Given the description of an element on the screen output the (x, y) to click on. 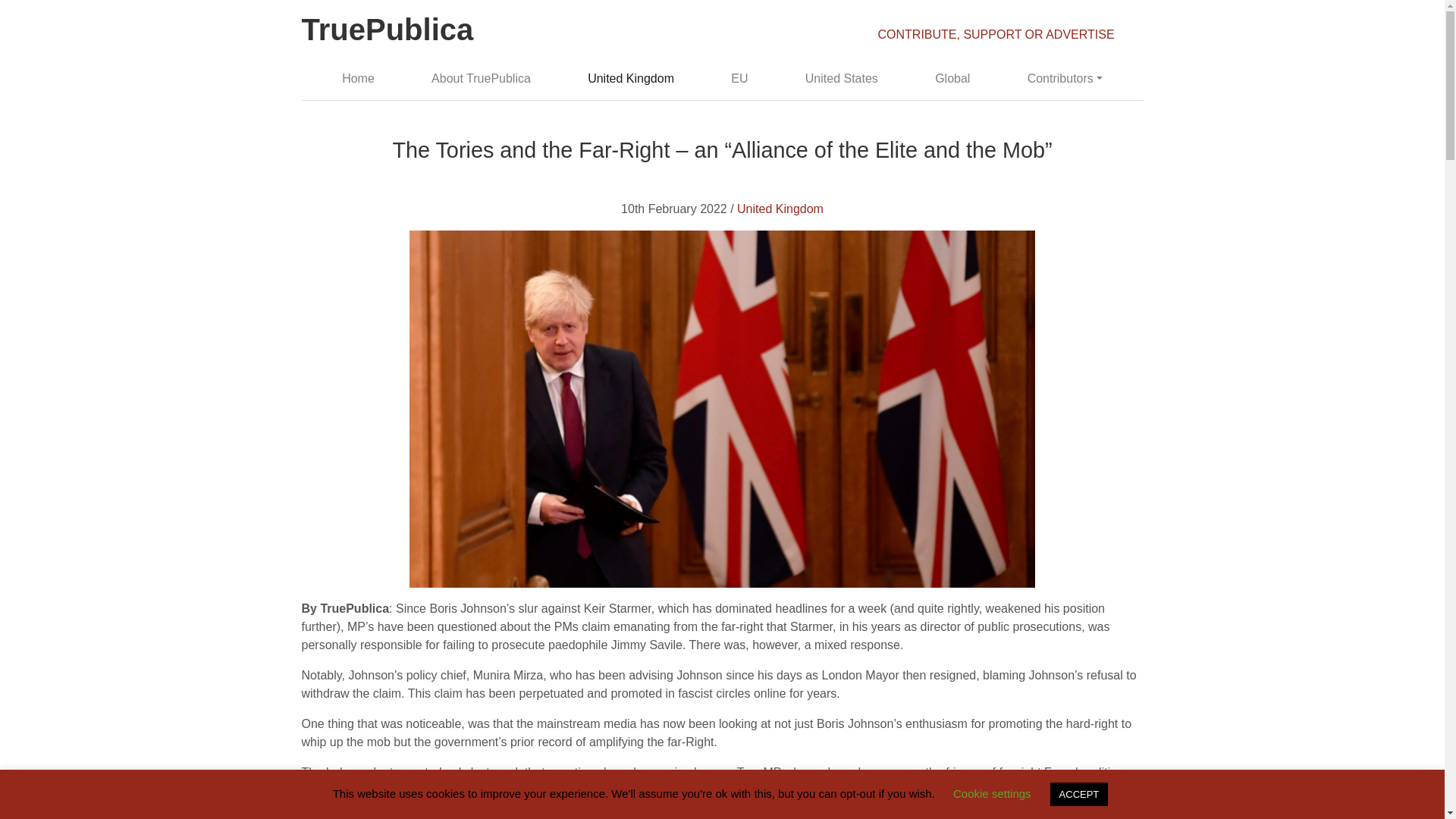
Home (358, 78)
CONTRIBUTE, SUPPORT OR ADVERTISE (996, 33)
reported (419, 771)
Contributors (1064, 78)
TruePublica (387, 32)
United States (840, 78)
United Kingdom (631, 78)
United Kingdom (780, 208)
About TruePublica (481, 78)
Global (951, 78)
EU (740, 78)
